Given the description of an element on the screen output the (x, y) to click on. 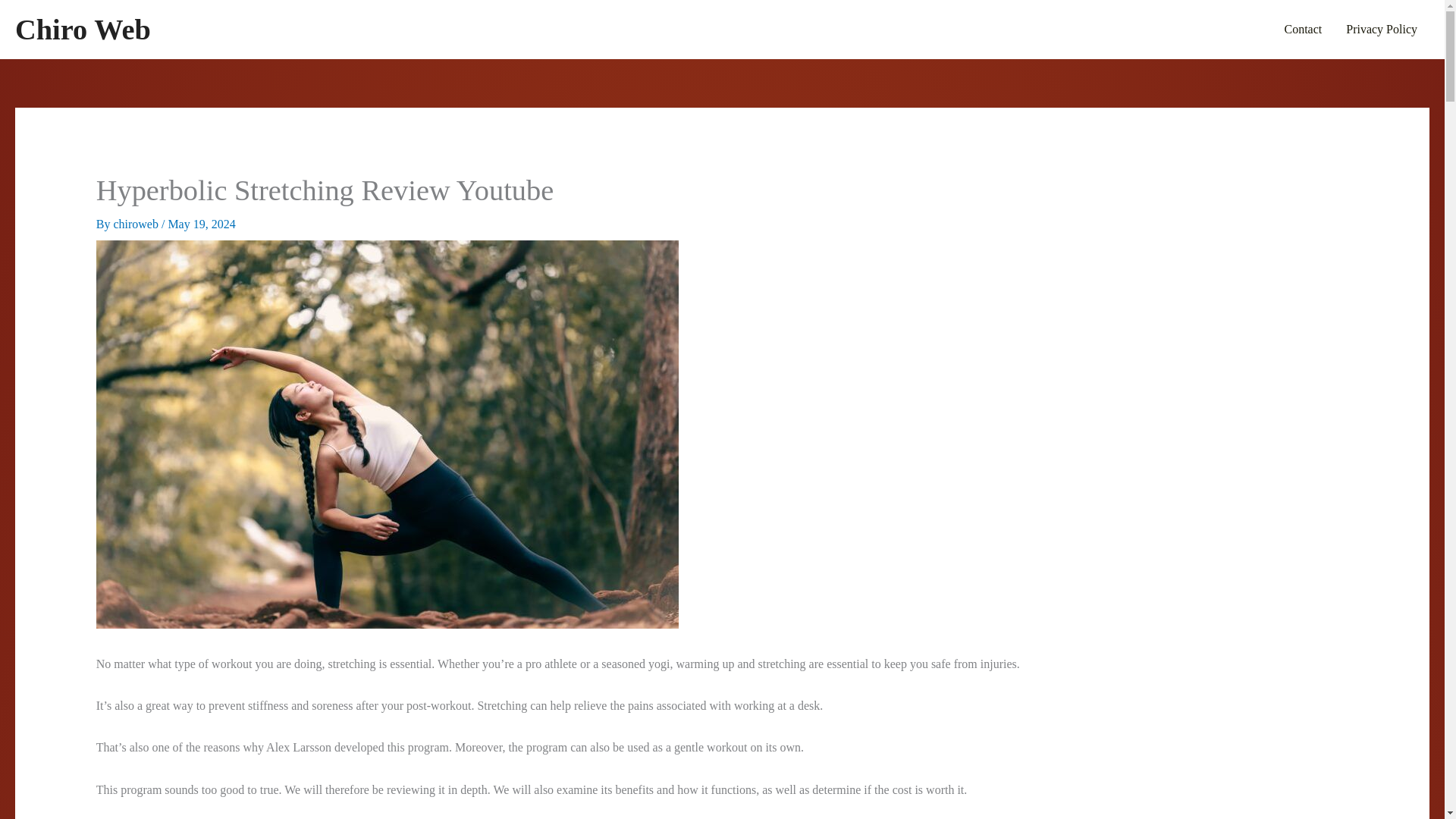
chiroweb (137, 223)
Privacy Policy (1381, 29)
View all posts by chiroweb (137, 223)
Chiro Web (82, 29)
Contact (1302, 29)
